Given the description of an element on the screen output the (x, y) to click on. 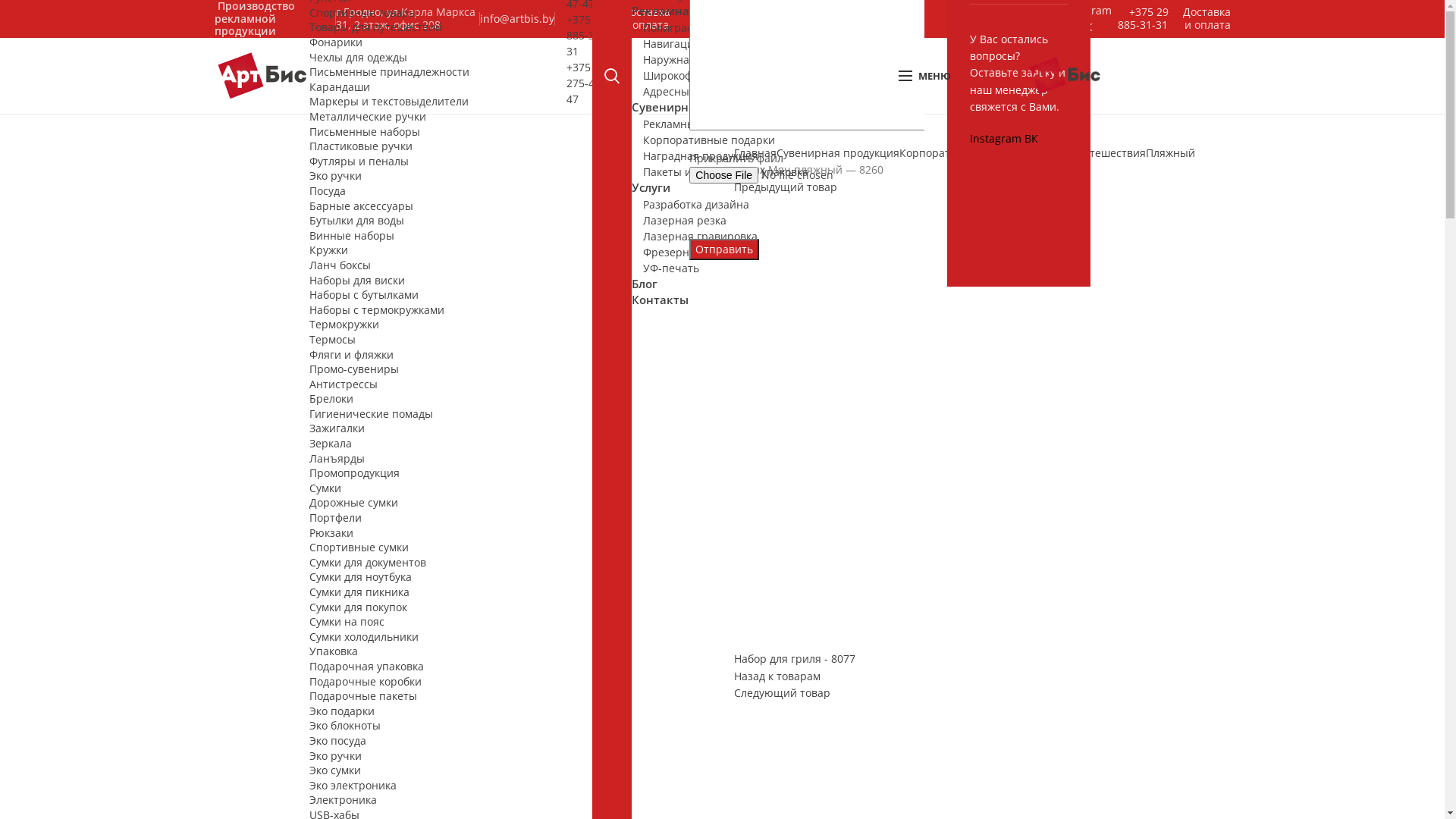
Instagram Element type: text (996, 138)
info@artbis.by Element type: text (517, 18)
+375 29 885-31-31 Element type: text (585, 35)
+375 29 275-47-47 Element type: text (585, 82)
Instagram Element type: text (1085, 10)
    +375 29 885-31-31 Element type: text (1142, 17)
